Given the description of an element on the screen output the (x, y) to click on. 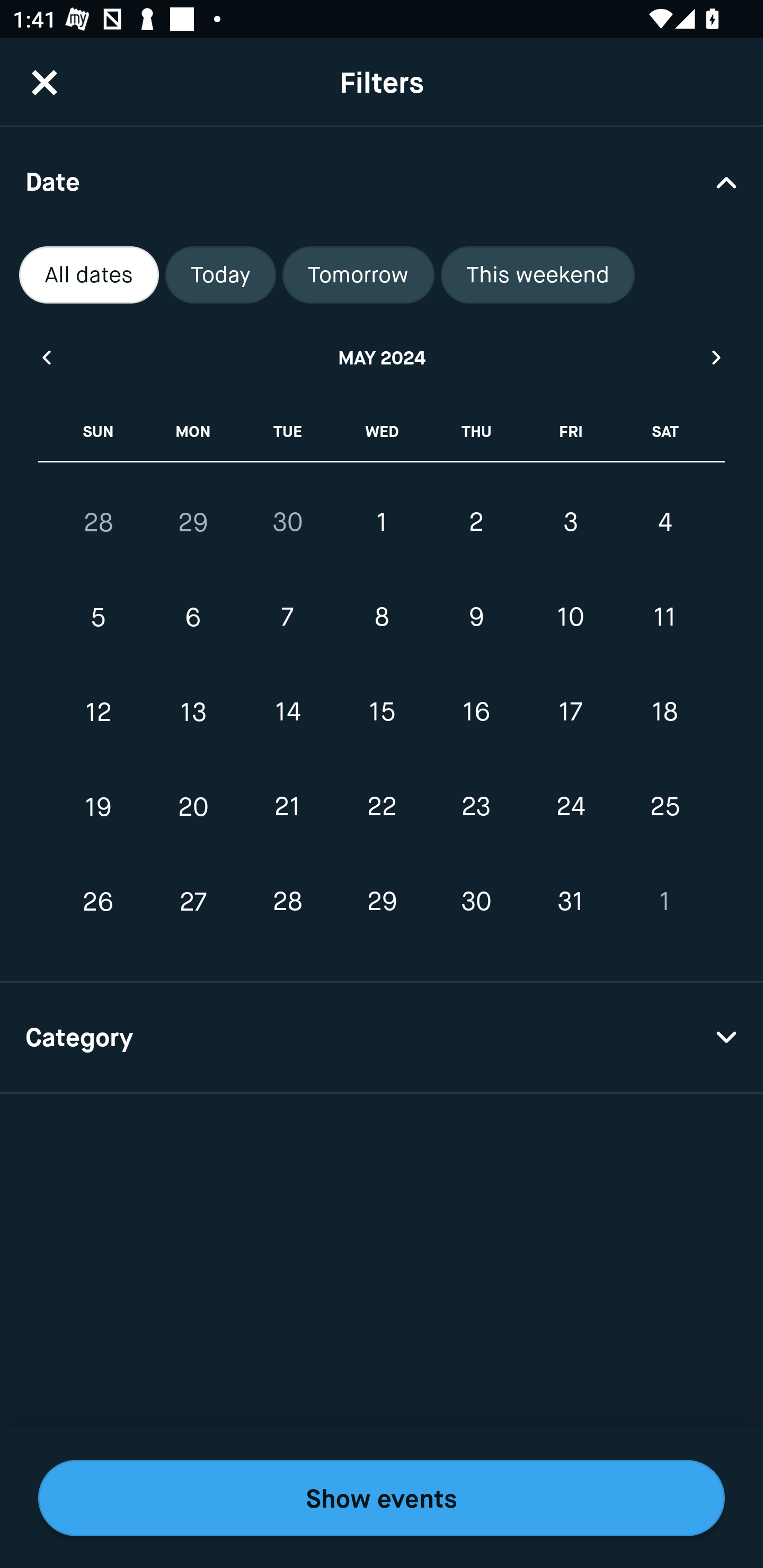
CloseButton (44, 82)
Date Drop Down Arrow (381, 181)
All dates (88, 274)
Today (220, 274)
Tomorrow (358, 274)
This weekend (537, 274)
Previous (45, 357)
Next (717, 357)
28 (98, 522)
29 (192, 522)
30 (287, 522)
1 (381, 522)
2 (475, 522)
3 (570, 522)
4 (664, 522)
5 (98, 617)
6 (192, 617)
7 (287, 617)
8 (381, 617)
9 (475, 617)
10 (570, 617)
11 (664, 617)
12 (98, 711)
13 (192, 711)
14 (287, 711)
15 (381, 711)
16 (475, 711)
17 (570, 711)
18 (664, 711)
19 (98, 806)
20 (192, 806)
21 (287, 806)
22 (381, 806)
23 (475, 806)
24 (570, 806)
25 (664, 806)
26 (98, 901)
27 (192, 901)
28 (287, 901)
29 (381, 901)
30 (475, 901)
31 (570, 901)
1 (664, 901)
Category Drop Down Arrow (381, 1038)
Show events (381, 1497)
